Given the description of an element on the screen output the (x, y) to click on. 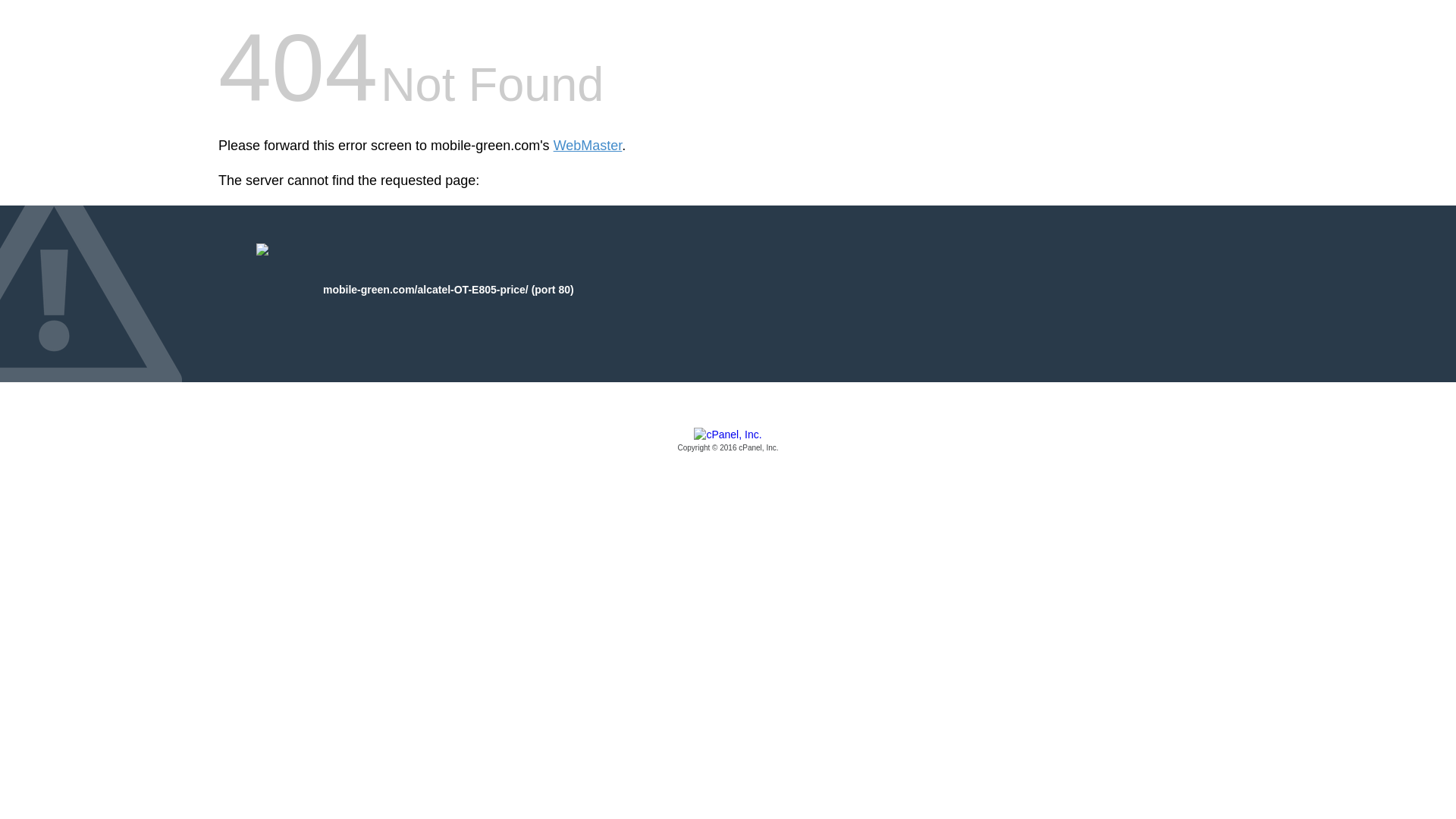
cPanel, Inc. (727, 440)
WebMaster (588, 145)
